Given the description of an element on the screen output the (x, y) to click on. 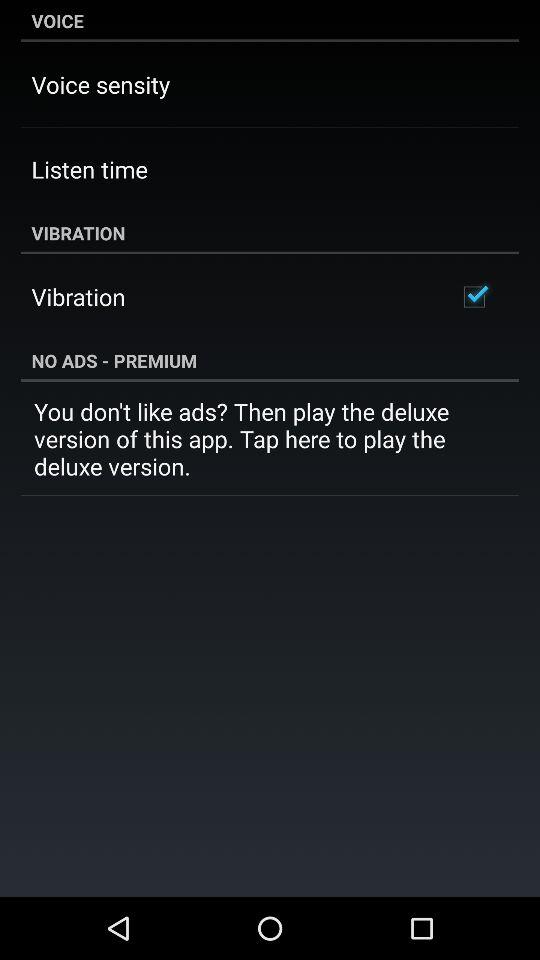
press the app above the no ads - premium item (474, 296)
